Given the description of an element on the screen output the (x, y) to click on. 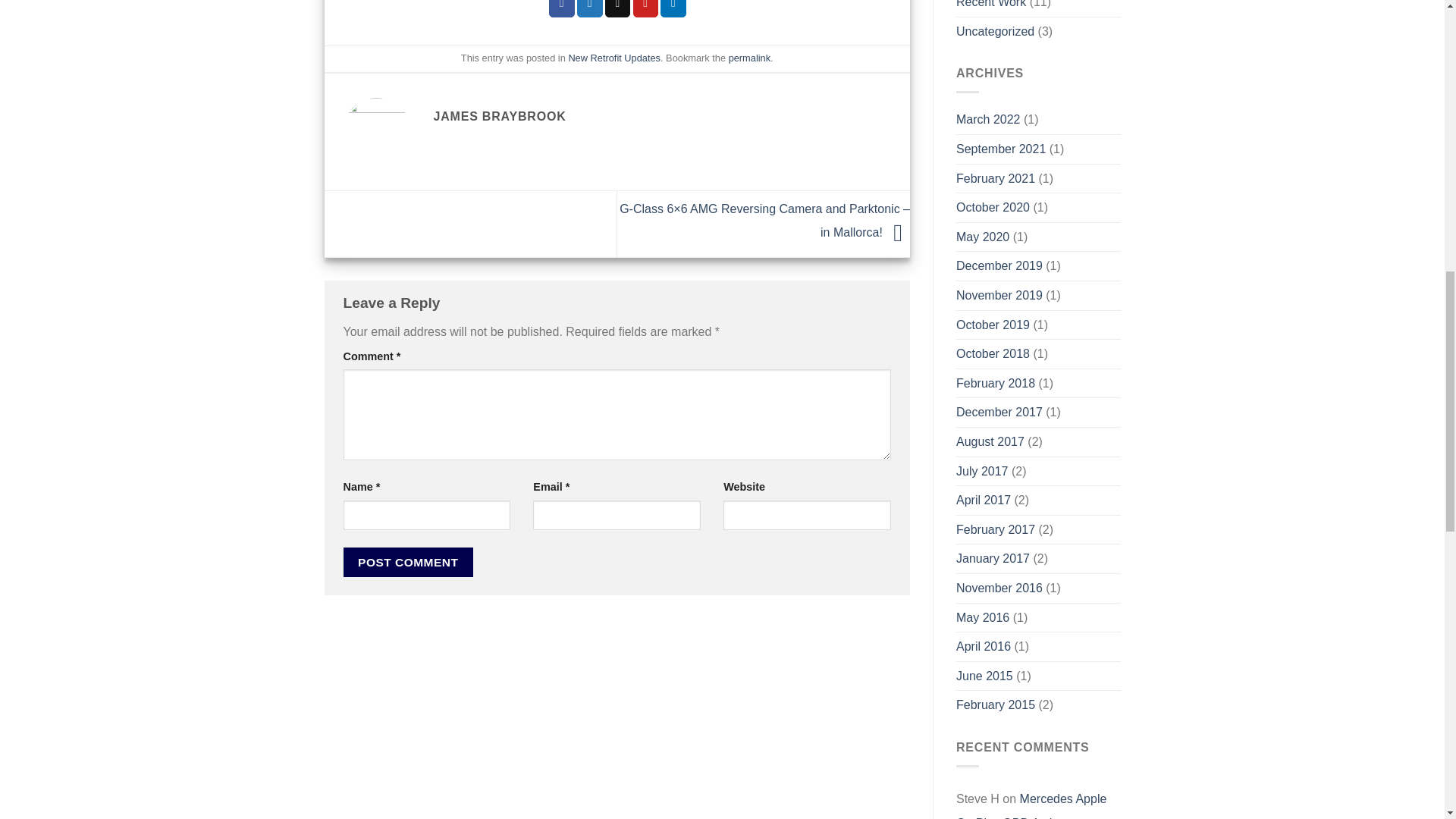
Permalink to SLK R172 Ambient Lighting (749, 57)
Post Comment (407, 562)
Email to a Friend (617, 8)
Share on Twitter (589, 8)
Pin on Pinterest (646, 8)
Share on Facebook (561, 8)
Share on LinkedIn (673, 8)
